Given the description of an element on the screen output the (x, y) to click on. 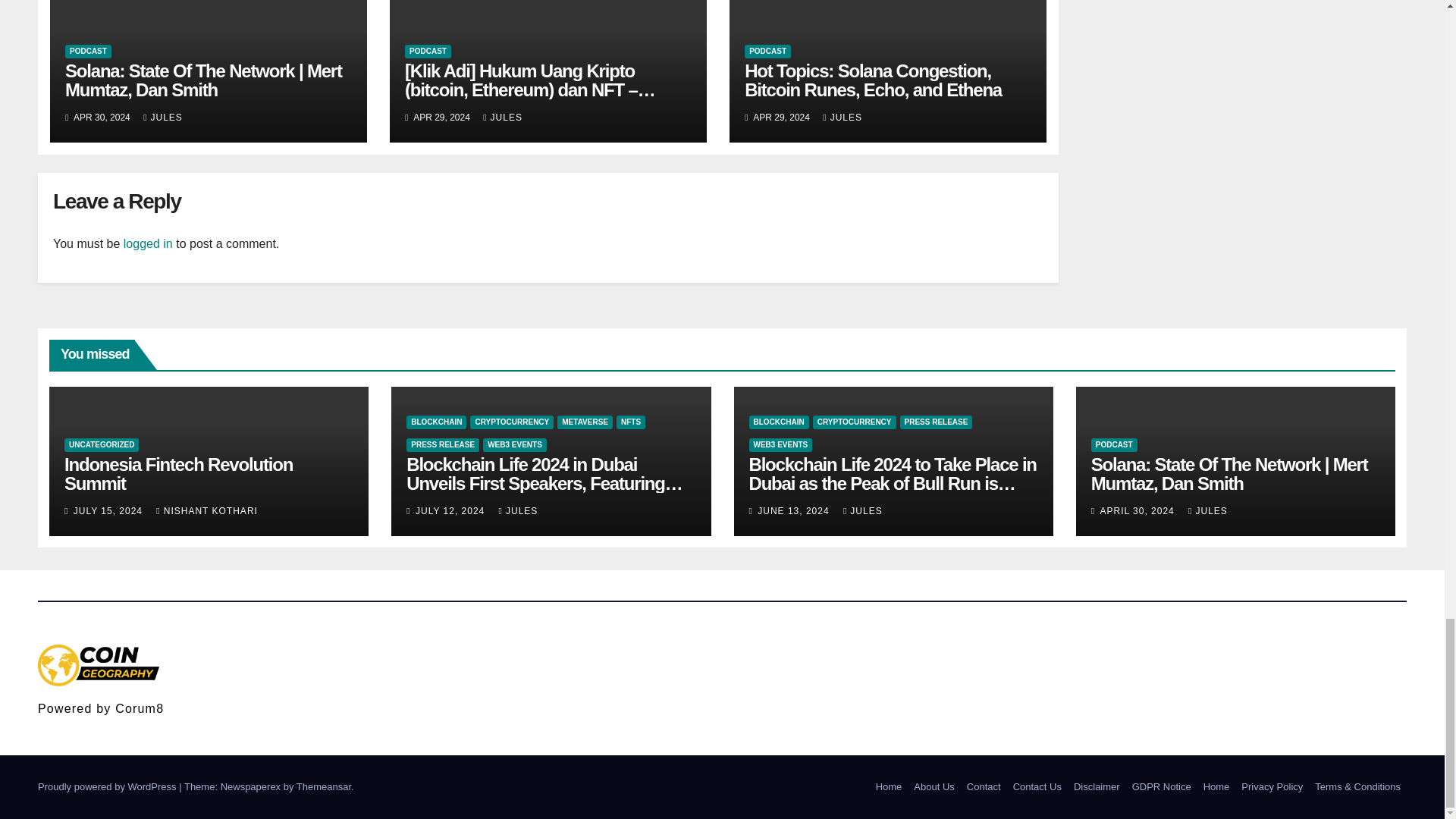
Home (888, 786)
Permalink to: Indonesia Fintech Revolution Summit (178, 473)
